Given the description of an element on the screen output the (x, y) to click on. 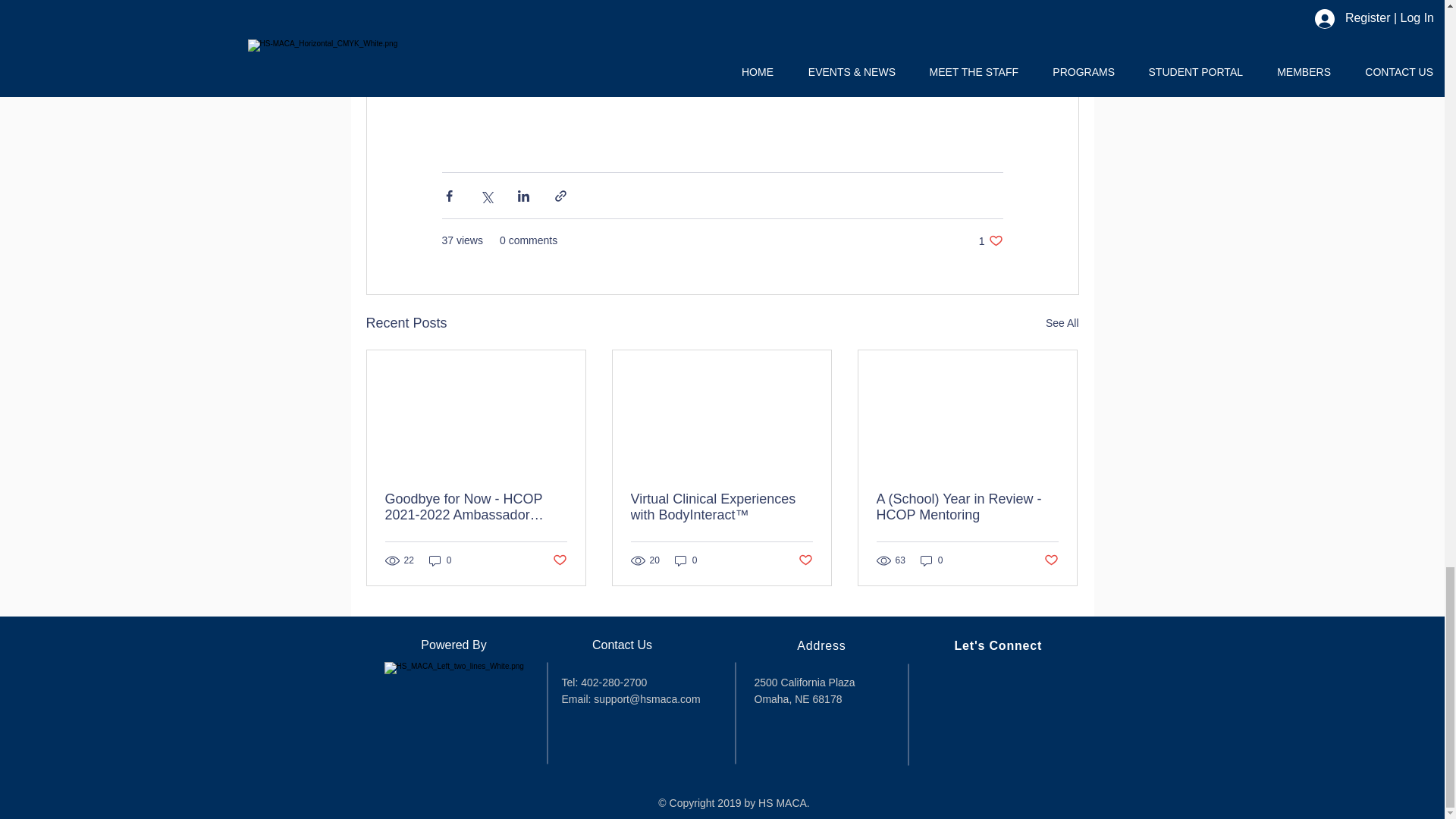
0 (685, 560)
0 (931, 560)
402-280-2700   (615, 682)
0 (440, 560)
Post not marked as liked (558, 560)
See All (1061, 323)
Post not marked as liked (804, 560)
Post not marked as liked (1050, 560)
